Given the description of an element on the screen output the (x, y) to click on. 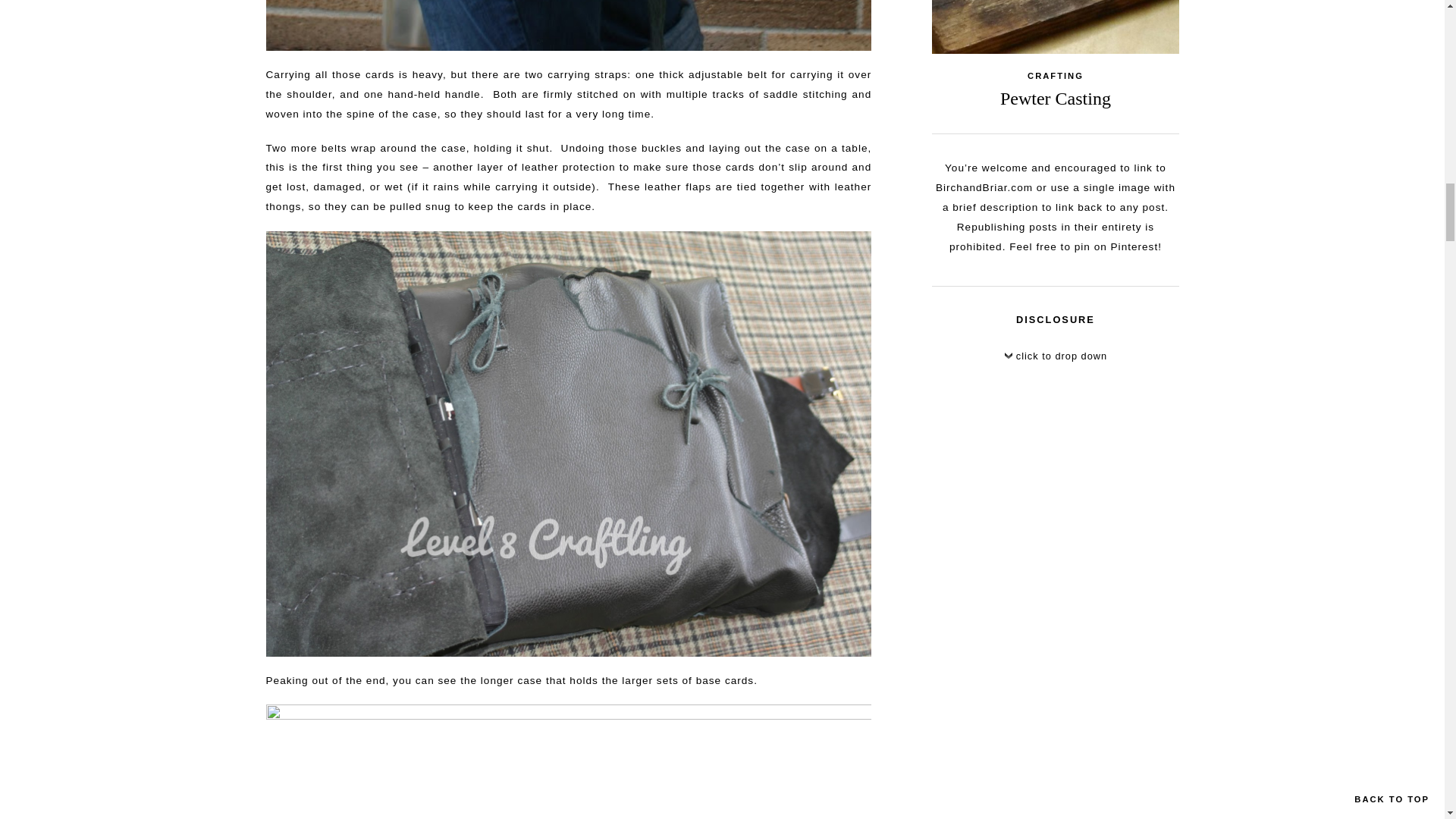
click to drop down (1055, 359)
